Given the description of an element on the screen output the (x, y) to click on. 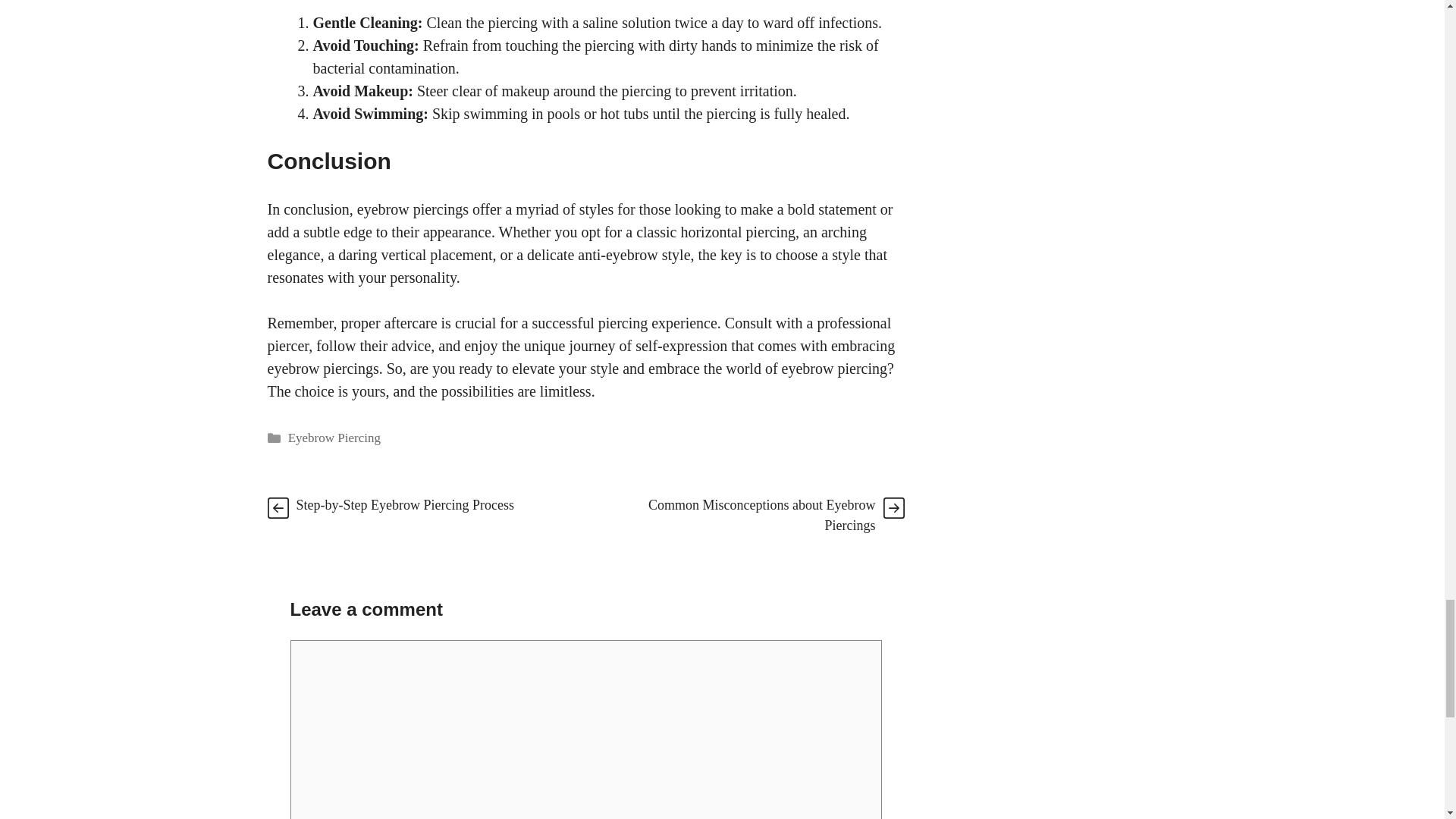
Step-by-Step Eyebrow Piercing Process (404, 504)
Common Misconceptions about Eyebrow Piercings (761, 515)
Eyebrow Piercing (334, 437)
